Given the description of an element on the screen output the (x, y) to click on. 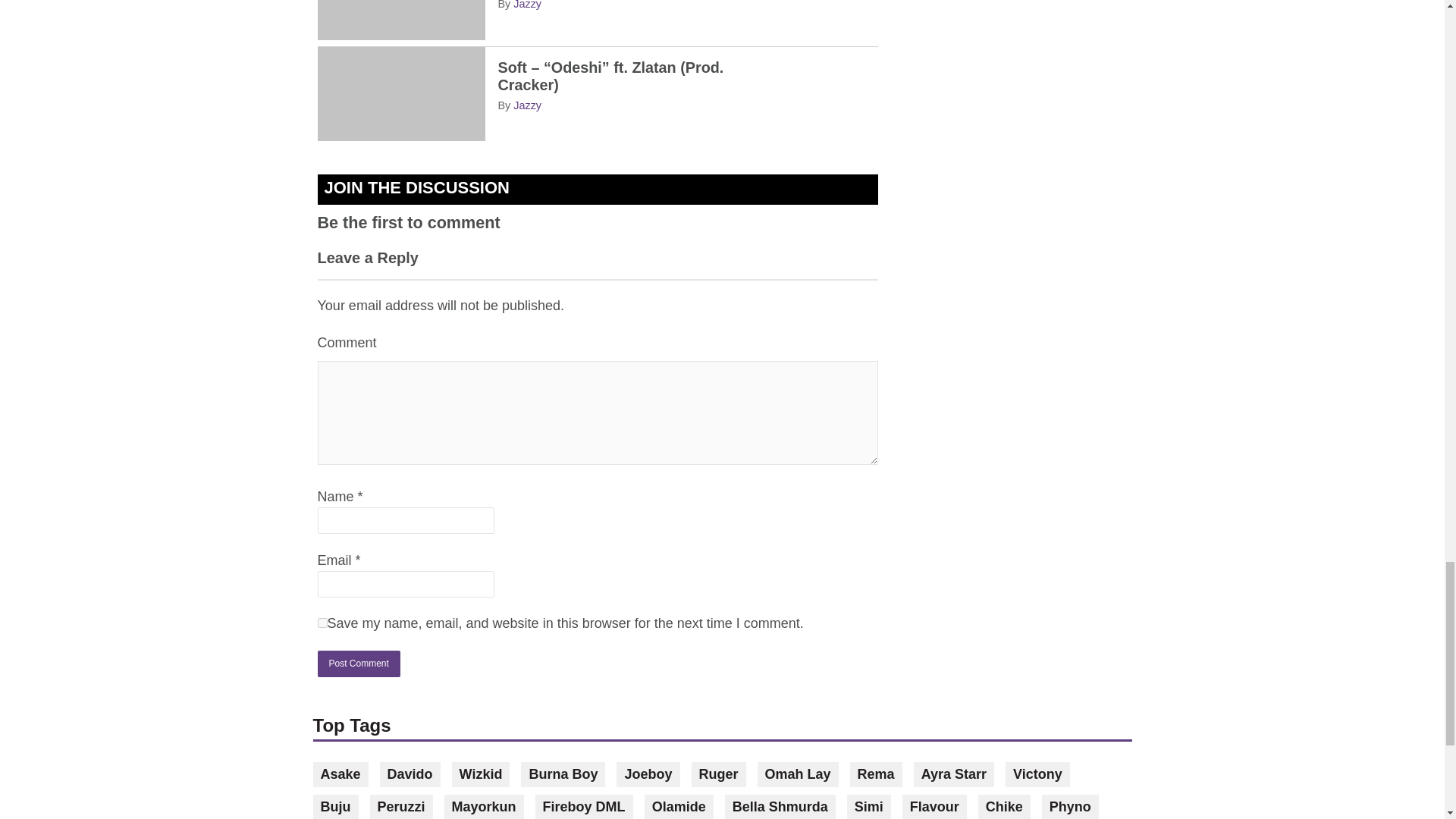
yes (321, 623)
Posts by Jazzy (527, 4)
Post Comment (357, 663)
Posts by Jazzy (527, 104)
